Given the description of an element on the screen output the (x, y) to click on. 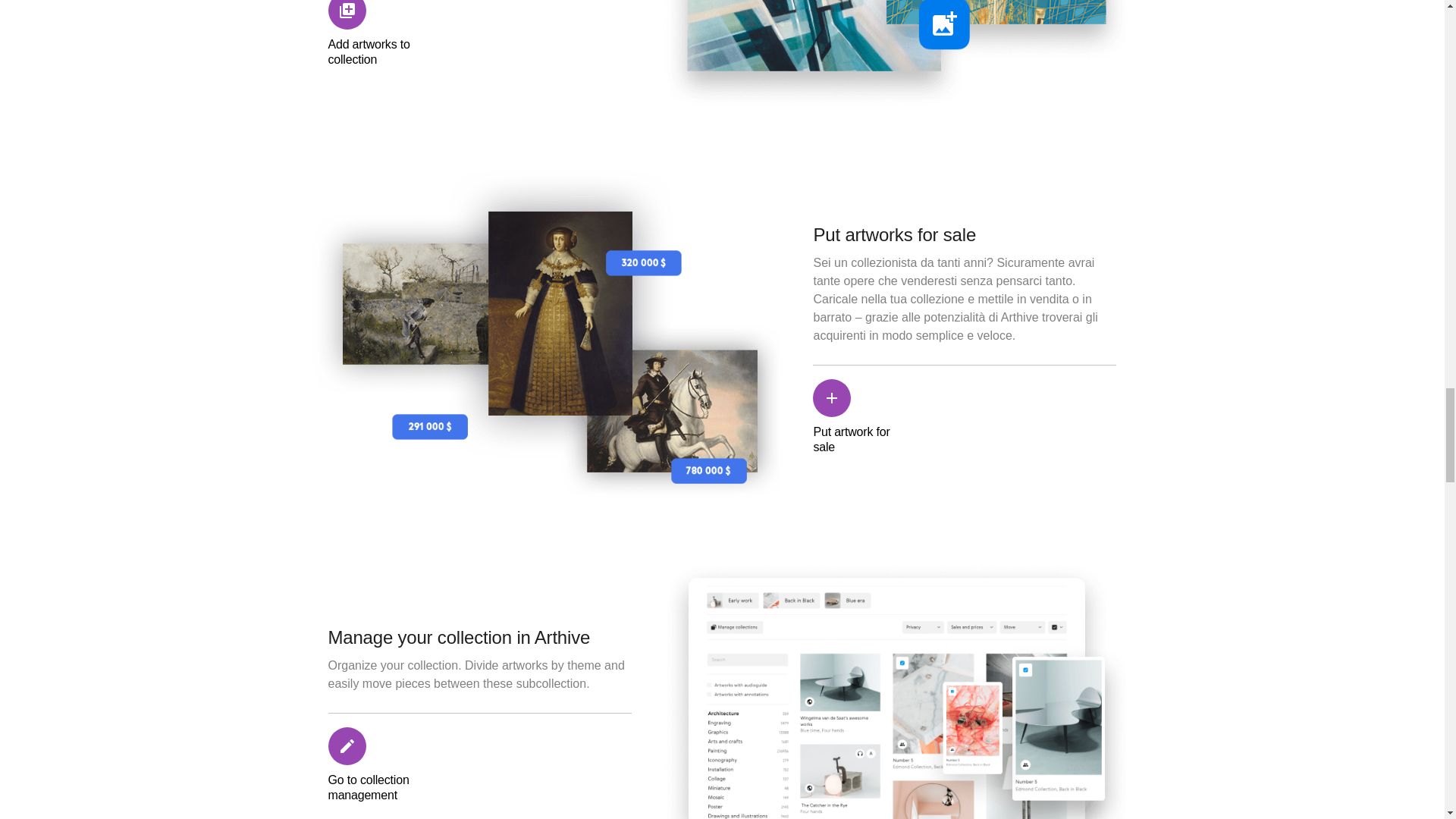
Add artworks to collection (373, 33)
Go to collection management (373, 765)
Put artwork for sale (858, 417)
